Given the description of an element on the screen output the (x, y) to click on. 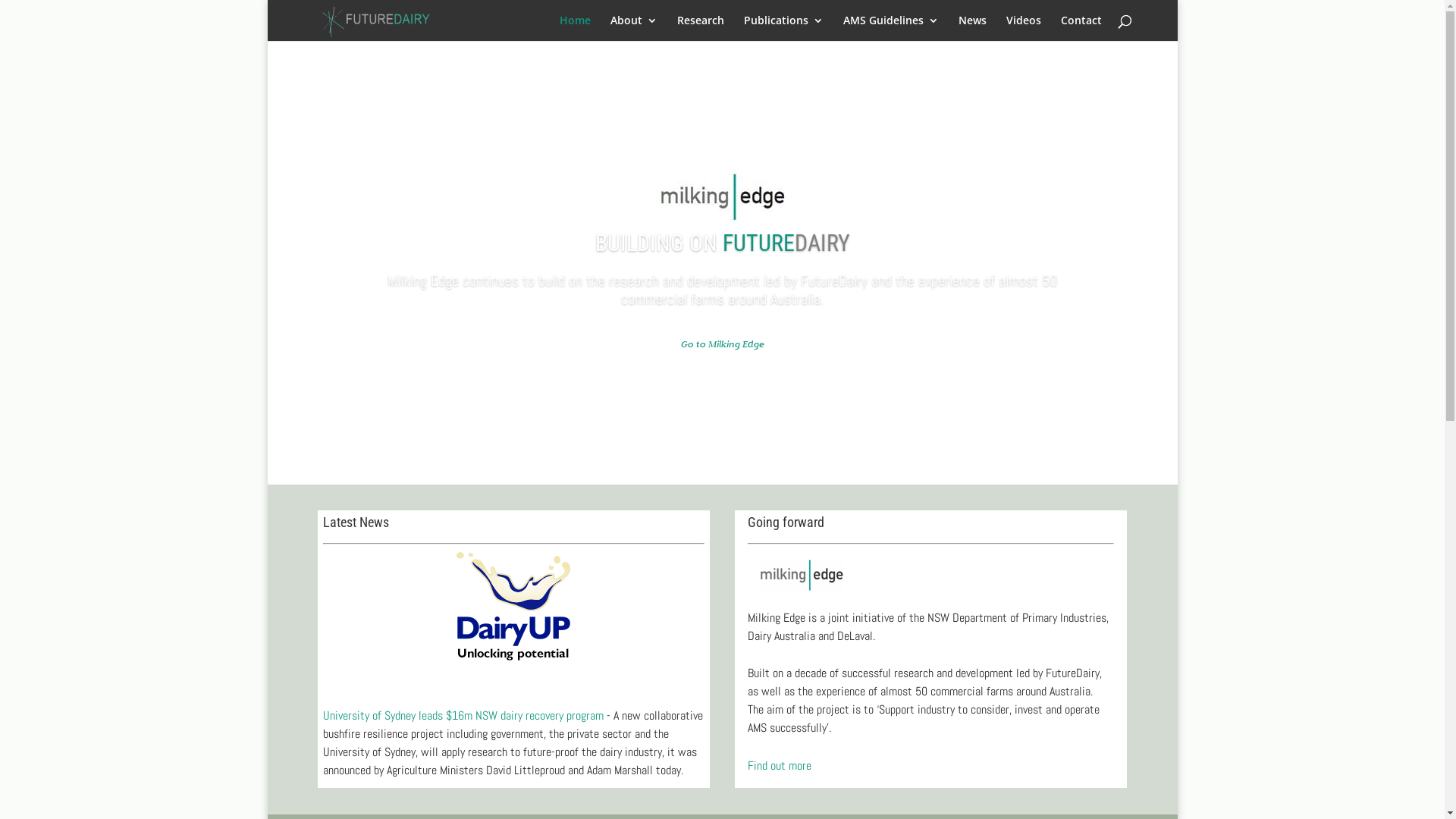
Publications Element type: text (782, 27)
AMS Guidelines Element type: text (890, 27)
Home Element type: text (574, 27)
Research Element type: text (699, 27)
News Element type: text (972, 27)
Videos Element type: text (1022, 27)
Find out more Element type: text (779, 765)
Go to Milking Edge Element type: text (722, 344)
University of Sydney leads $16m NSW dairy recovery program Element type: text (463, 715)
About Element type: text (632, 27)
Contact Element type: text (1080, 27)
